Given the description of an element on the screen output the (x, y) to click on. 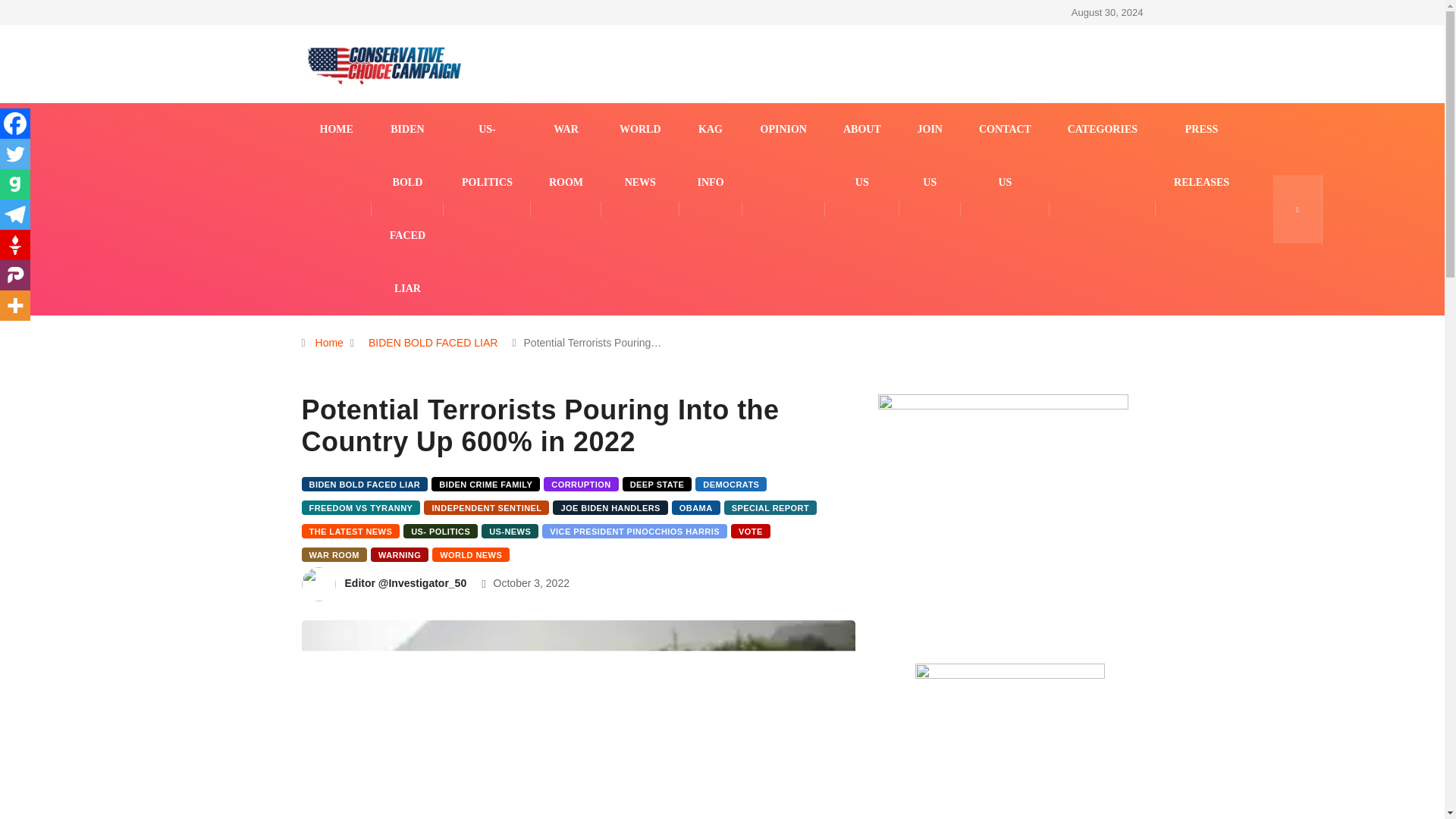
DEEP STATE (658, 483)
Telegram (15, 214)
BIDEN BOLD FACED LIAR (432, 342)
CATEGORIES (1102, 129)
THE LATEST NEWS (350, 531)
DEMOCRATS (731, 483)
INDEPENDENT SENTINEL (485, 507)
BIDEN BOLD FACED LIAR (364, 483)
VOTE (750, 531)
WARNING (399, 554)
